Given the description of an element on the screen output the (x, y) to click on. 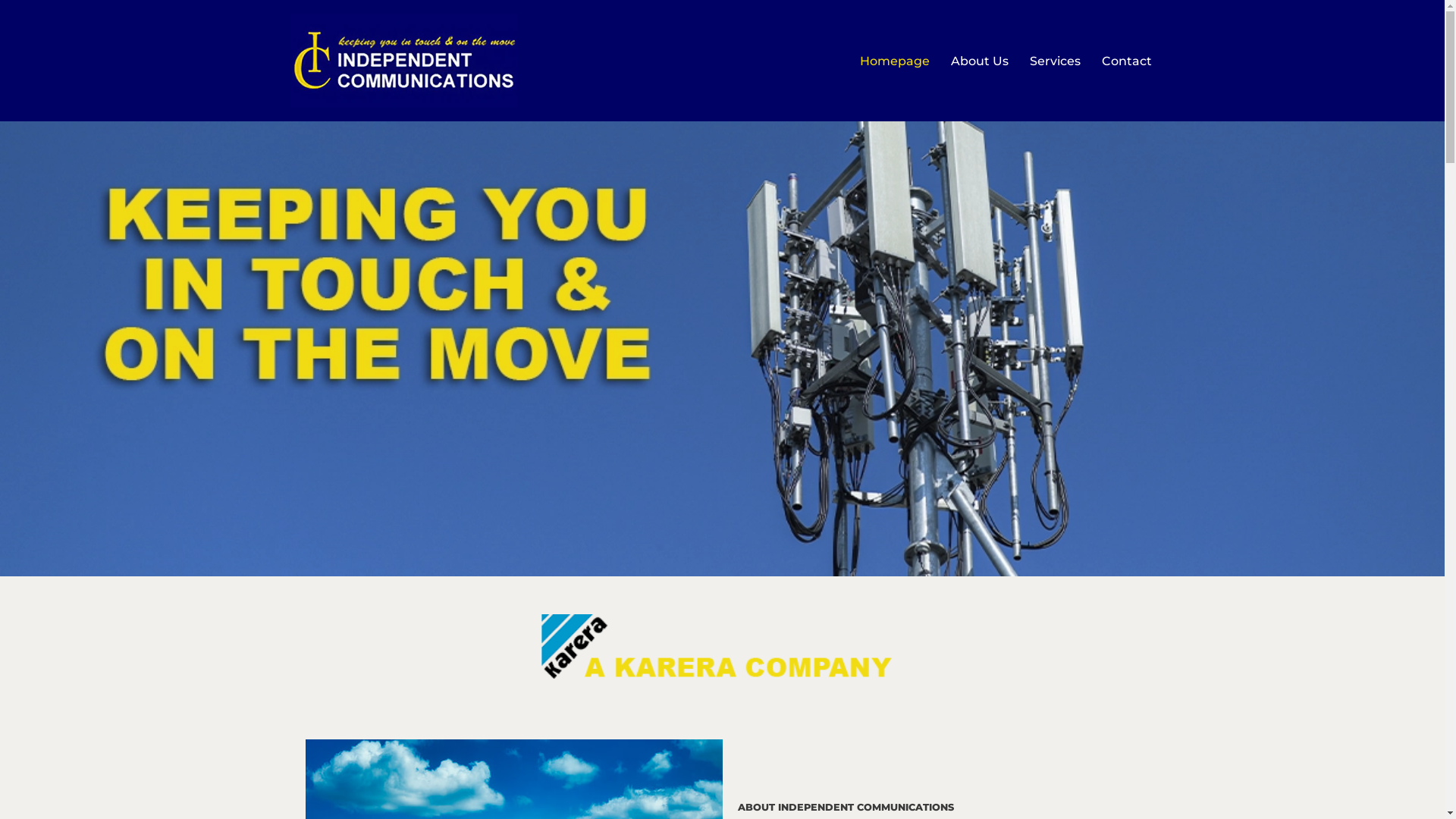
Skip to content Element type: text (11, 31)
About Us Element type: text (979, 60)
Services Element type: text (1054, 60)
Contact Element type: text (1126, 60)
Homepage Element type: text (894, 60)
